Given the description of an element on the screen output the (x, y) to click on. 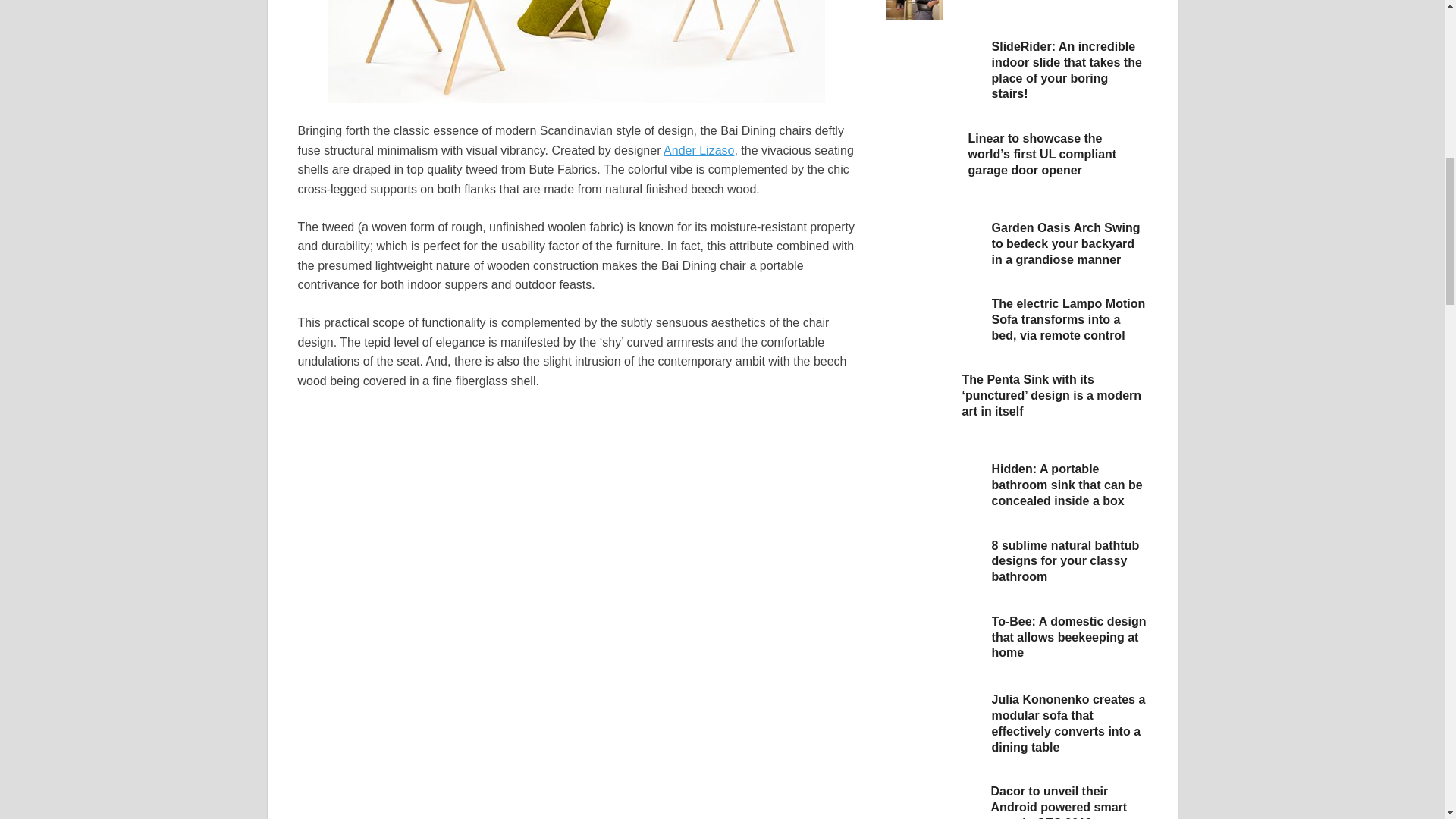
Ander Lizaso (698, 150)
